Given the description of an element on the screen output the (x, y) to click on. 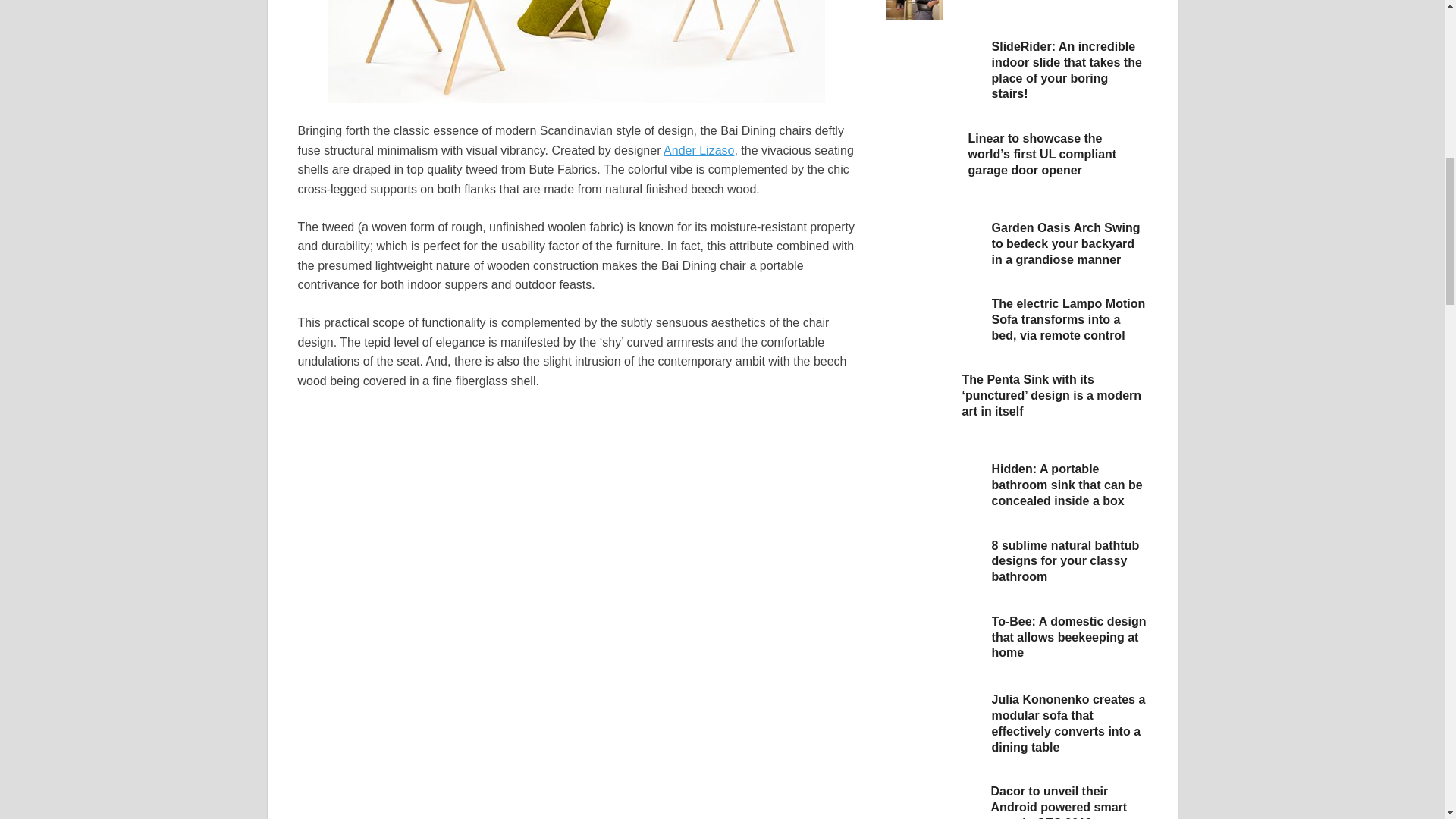
Ander Lizaso (698, 150)
